Given the description of an element on the screen output the (x, y) to click on. 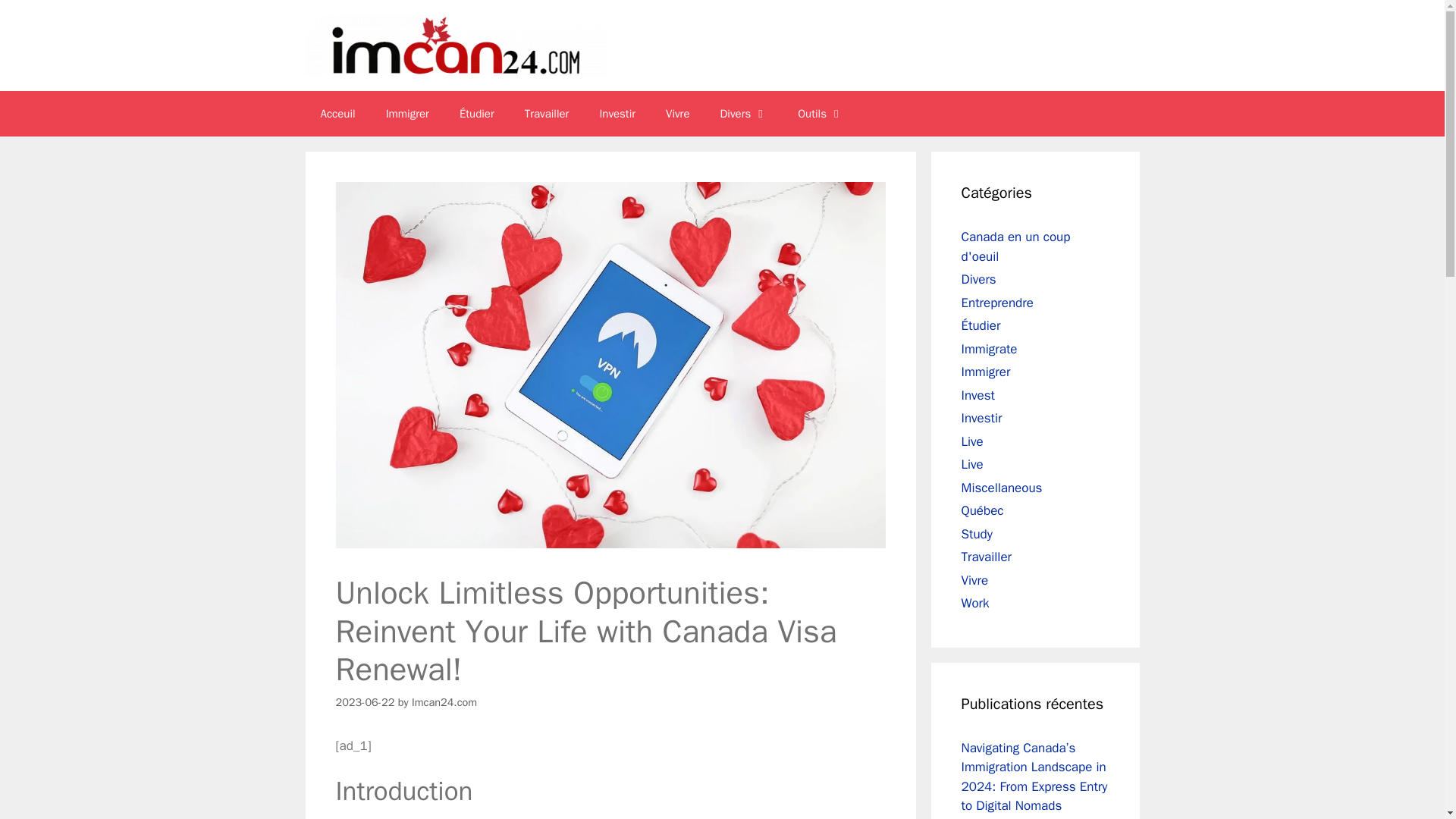
Work (975, 602)
Miscellaneous (1001, 487)
Vivre (677, 113)
Imcan24.com (444, 702)
Acceuil (336, 113)
Divers (977, 279)
Divers (743, 113)
Outils (821, 113)
Immigrate (988, 349)
View all posts by Imcan24.com (444, 702)
Canada en un coup d'oeuil (1015, 246)
Immigrer (407, 113)
Travailler (547, 113)
Entreprendre (996, 302)
Study (976, 534)
